Given the description of an element on the screen output the (x, y) to click on. 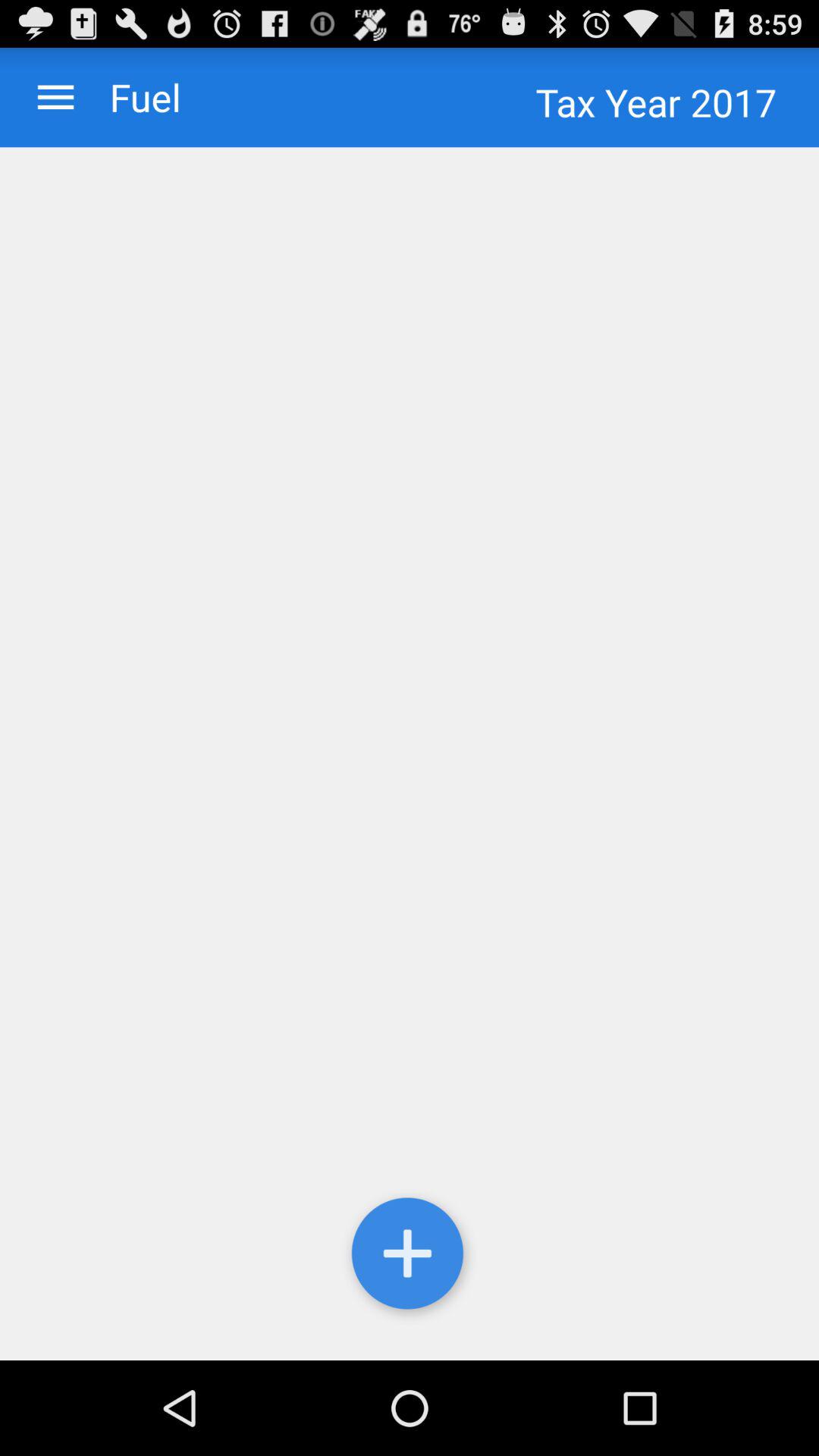
launch the item next to fuel (55, 97)
